Given the description of an element on the screen output the (x, y) to click on. 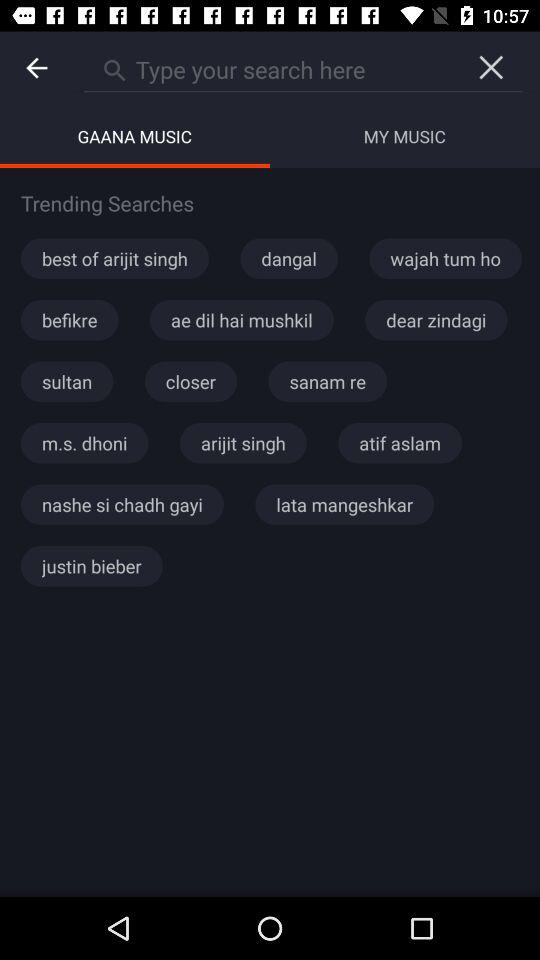
go back (36, 68)
